Given the description of an element on the screen output the (x, y) to click on. 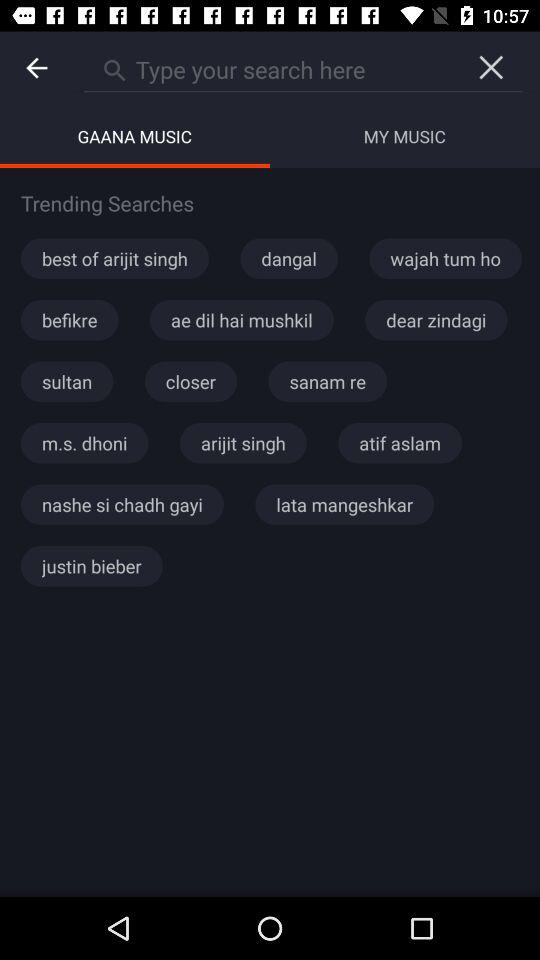
go back (36, 68)
